Given the description of an element on the screen output the (x, y) to click on. 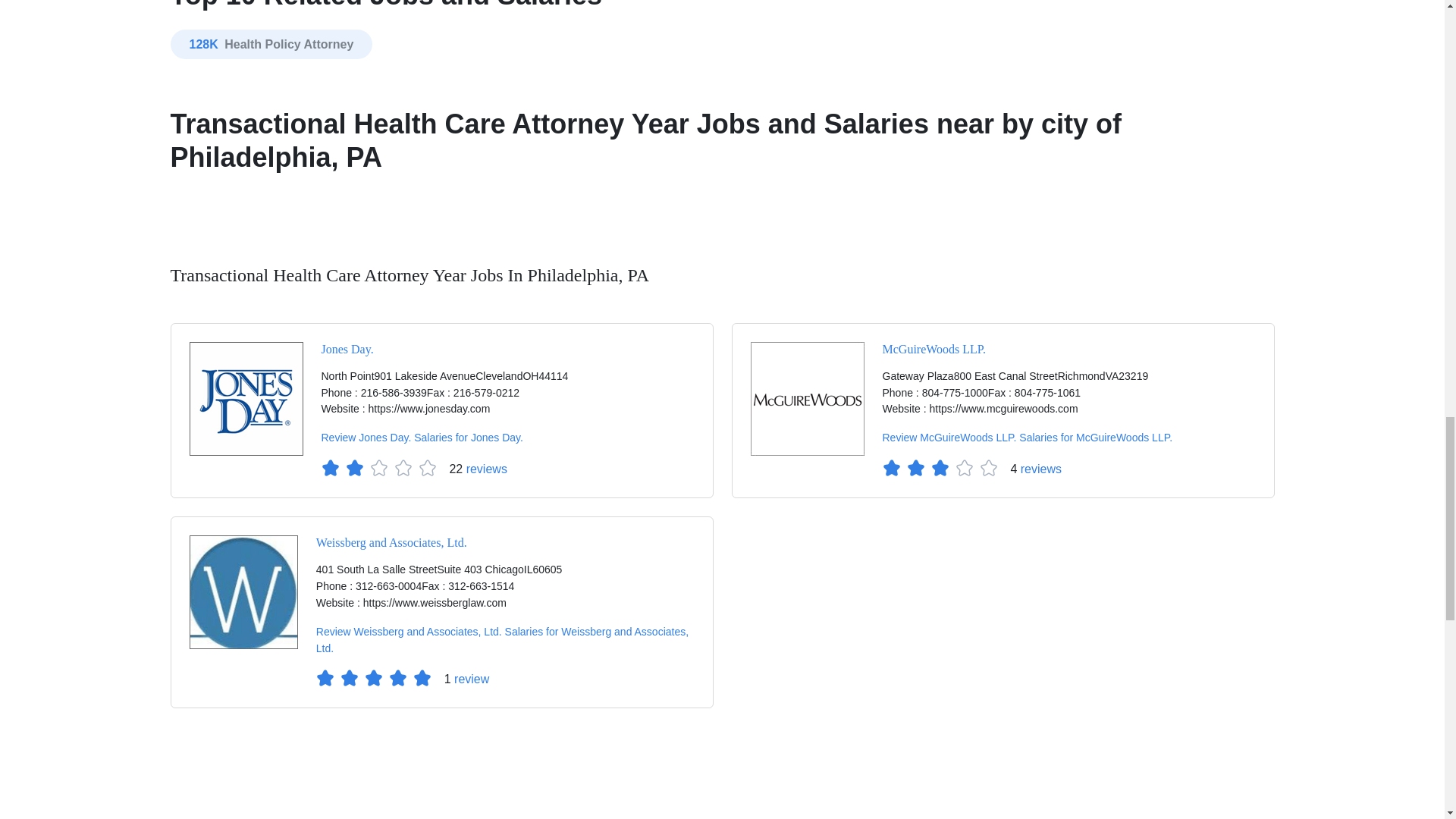
Jones Day. (245, 398)
Weissberg and Associates, Ltd. (243, 592)
McGuireWoods LLP. (807, 398)
